Given the description of an element on the screen output the (x, y) to click on. 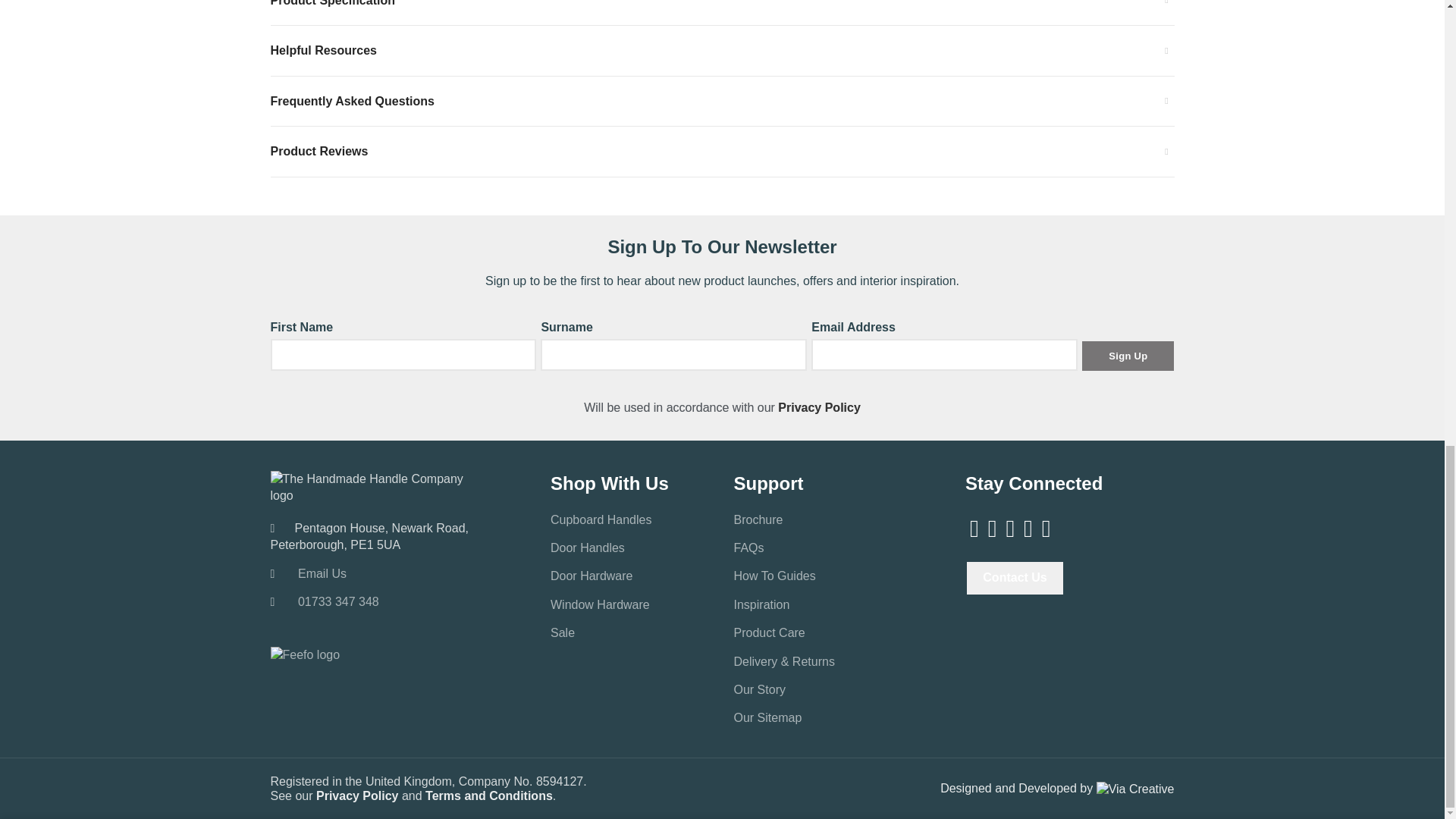
Our customer Feefo rating (304, 655)
Sign up (1127, 356)
